Given the description of an element on the screen output the (x, y) to click on. 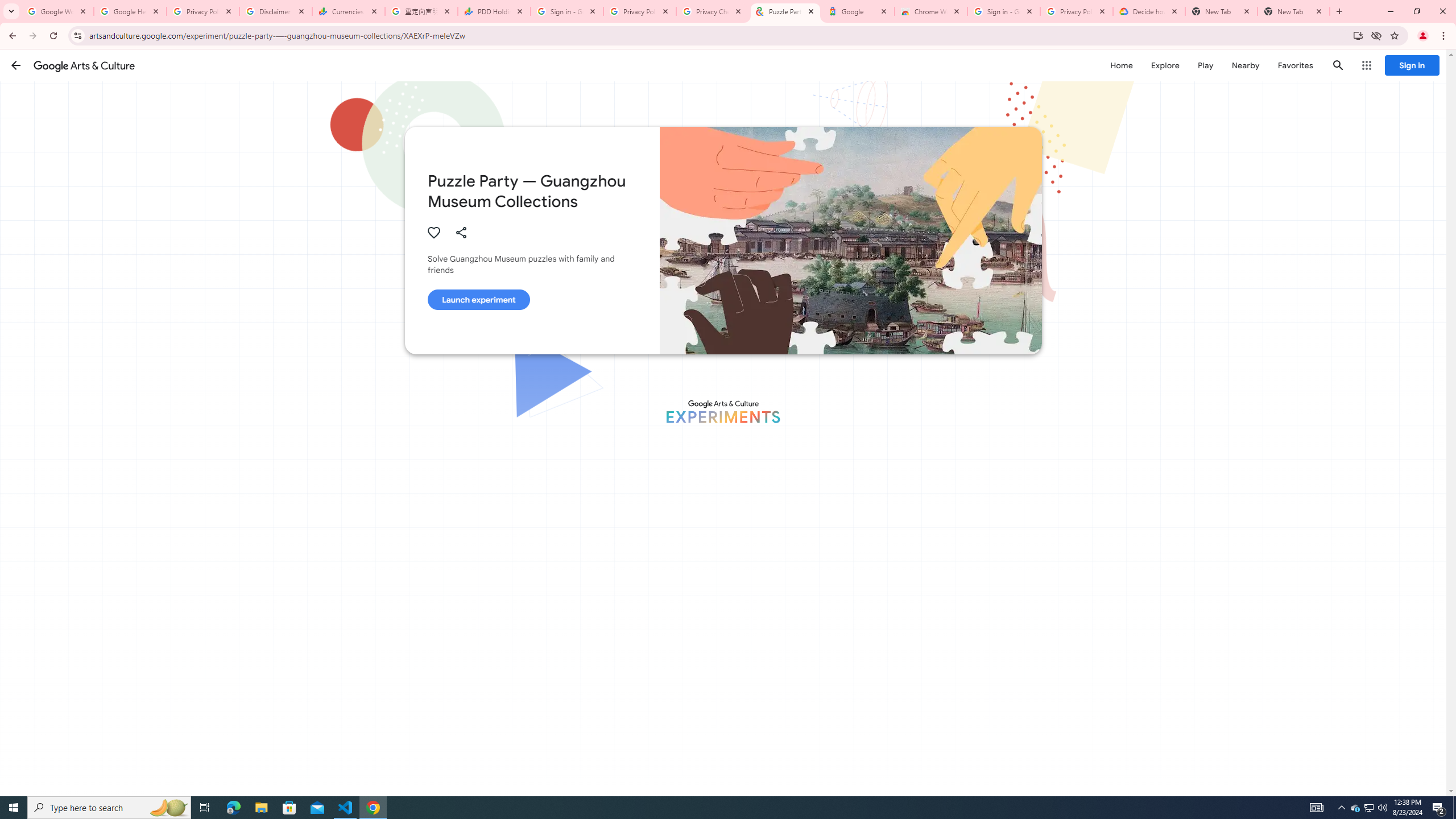
Sign in - Google Accounts (1003, 11)
Currencies - Google Finance (348, 11)
Authenticate to favorite this asset. (432, 232)
Easy (653, 778)
Explore (1164, 65)
PDD Holdings Inc - ADR (PDD) Price & News - Google Finance (493, 11)
